Given the description of an element on the screen output the (x, y) to click on. 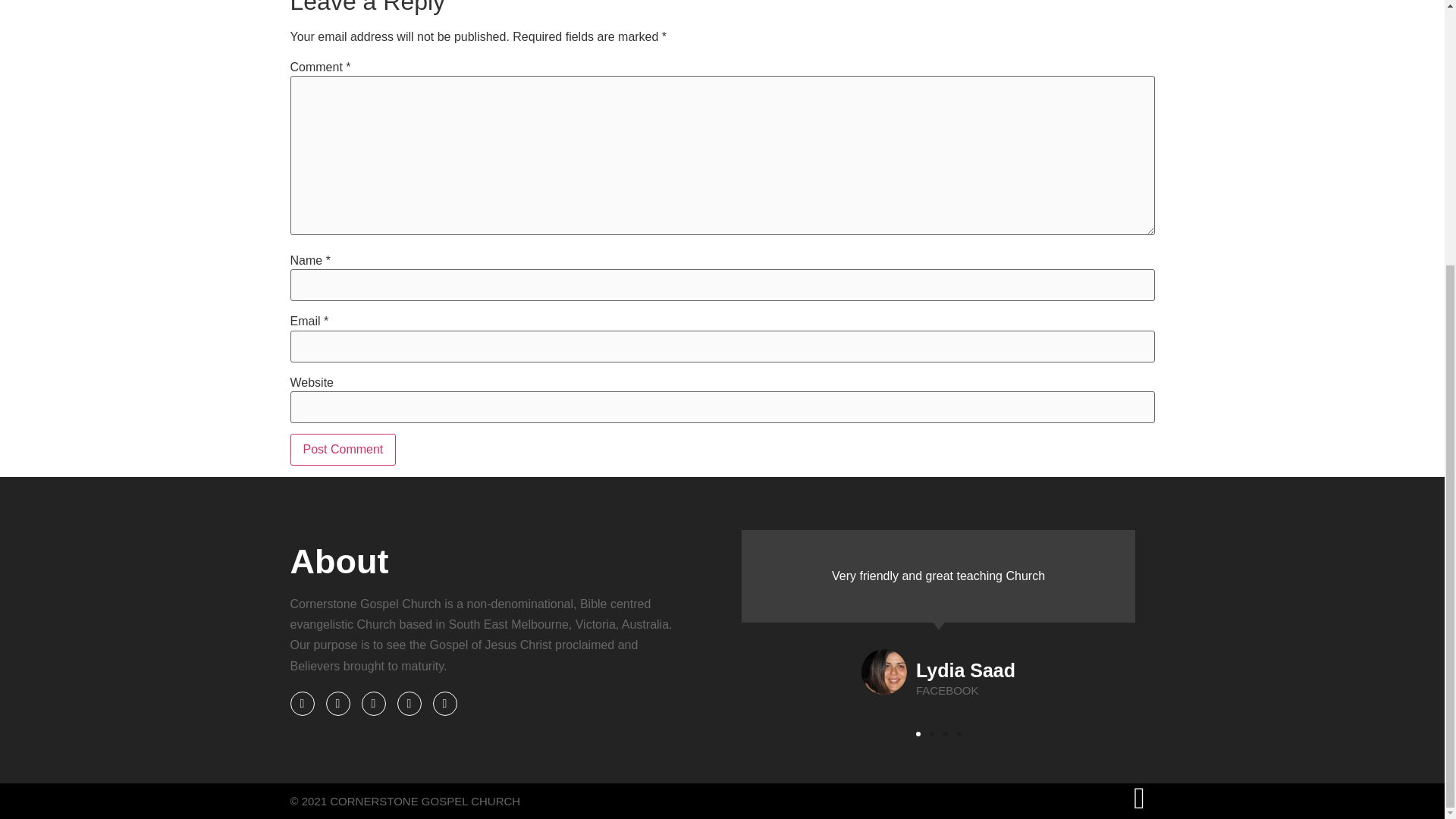
Post Comment (342, 450)
Post Comment (342, 450)
